Given the description of an element on the screen output the (x, y) to click on. 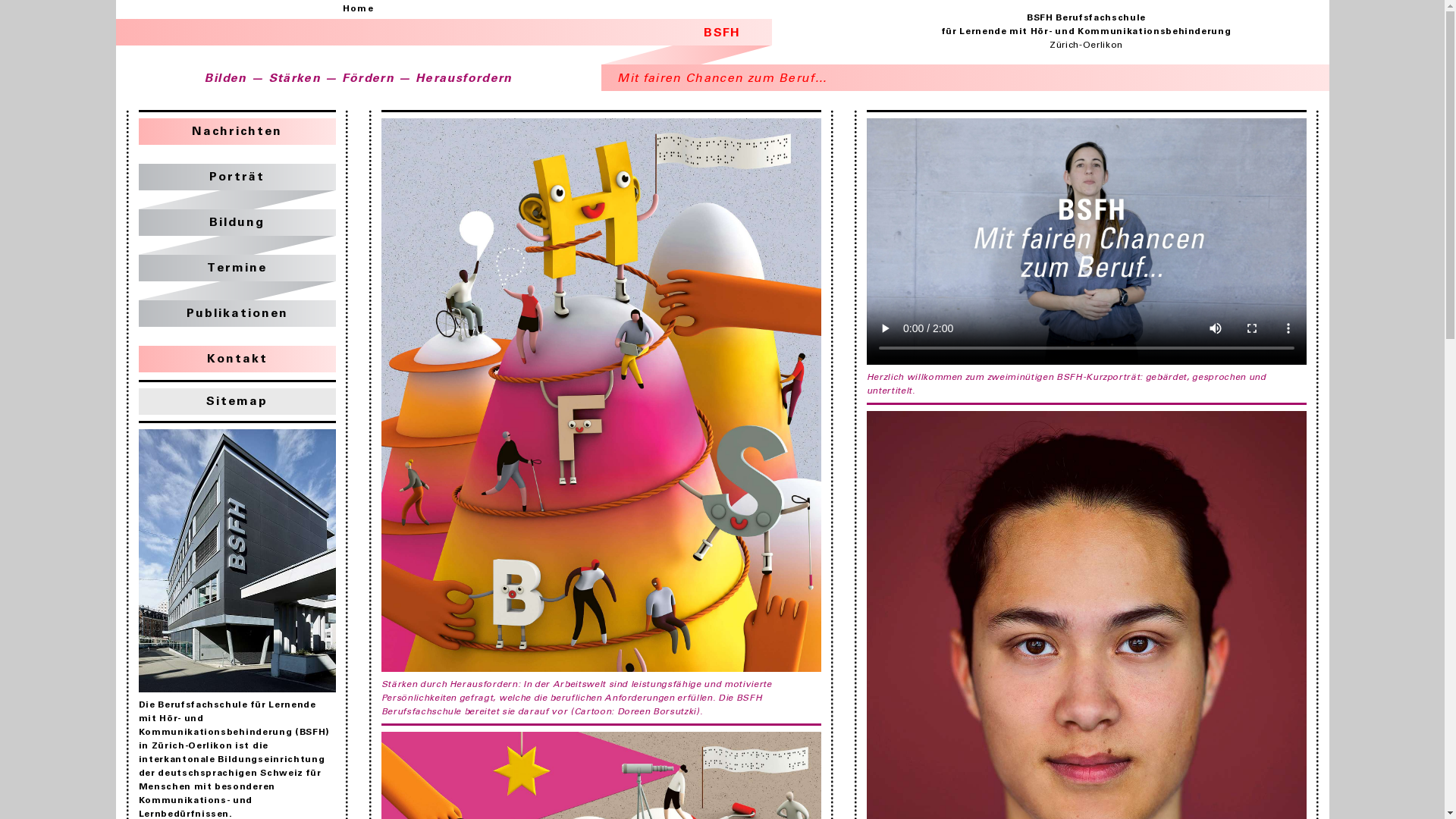
Kontakt Element type: text (236, 358)
Sitemap Element type: text (236, 401)
Nachrichten Element type: text (236, 131)
Bildung Element type: text (236, 222)
Termine Element type: text (236, 267)
BSFH
Mit fairen Chancen zum Beruf... Element type: text (721, 54)
Home Element type: text (357, 8)
Publikationen Element type: text (236, 313)
